Given the description of an element on the screen output the (x, y) to click on. 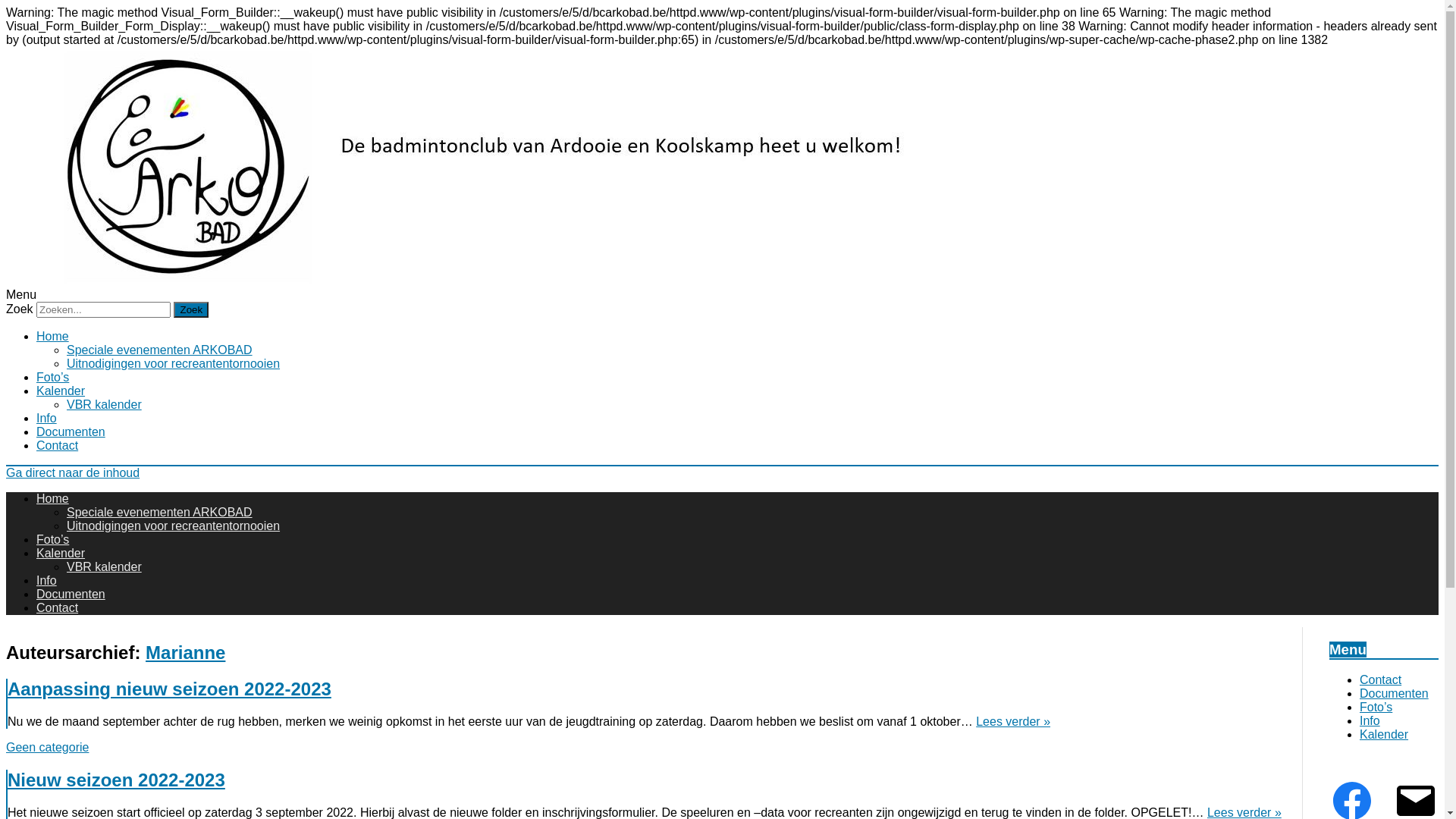
Nieuw seizoen 2022-2023 Element type: text (116, 779)
Uitnodigingen voor recreantentornooien Element type: text (172, 363)
Info Element type: text (1369, 720)
Geen categorie Element type: text (47, 746)
Documenten Element type: text (1393, 693)
VBR kalender Element type: text (103, 404)
Kalender Element type: text (60, 552)
Home Element type: text (52, 335)
VBR kalender Element type: text (103, 566)
Home Element type: text (52, 498)
Marianne Element type: text (185, 652)
Uitnodigingen voor recreantentornooien Element type: text (172, 525)
Kalender Element type: text (60, 390)
Zoek Element type: text (190, 309)
Documenten Element type: text (70, 593)
Info Element type: text (46, 417)
Ga direct naar de inhoud Element type: text (72, 472)
Contact Element type: text (1380, 679)
Documenten Element type: text (70, 431)
Speciale evenementen ARKOBAD Element type: text (159, 349)
Contact Element type: text (57, 445)
Aanpassing nieuw seizoen 2022-2023 Element type: text (169, 688)
Kalender Element type: text (1383, 734)
Info Element type: text (46, 580)
Speciale evenementen ARKOBAD Element type: text (159, 511)
Contact Element type: text (57, 607)
